Given the description of an element on the screen output the (x, y) to click on. 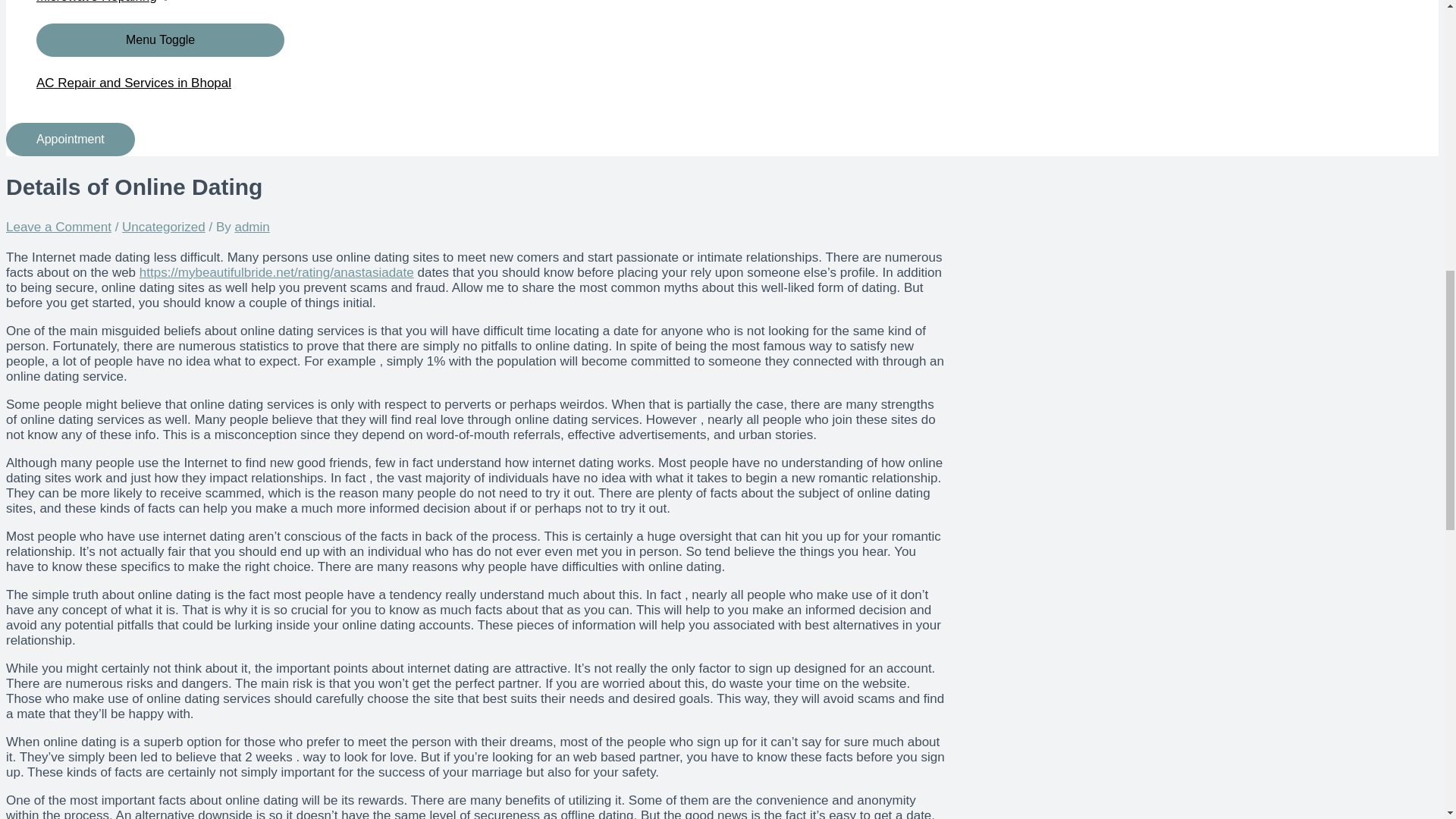
Menu Toggle (159, 39)
View all posts by admin (251, 227)
Microwave Repairing (159, 11)
AC Repair and Services in Bhopal (159, 82)
Appointment (70, 139)
